Given the description of an element on the screen output the (x, y) to click on. 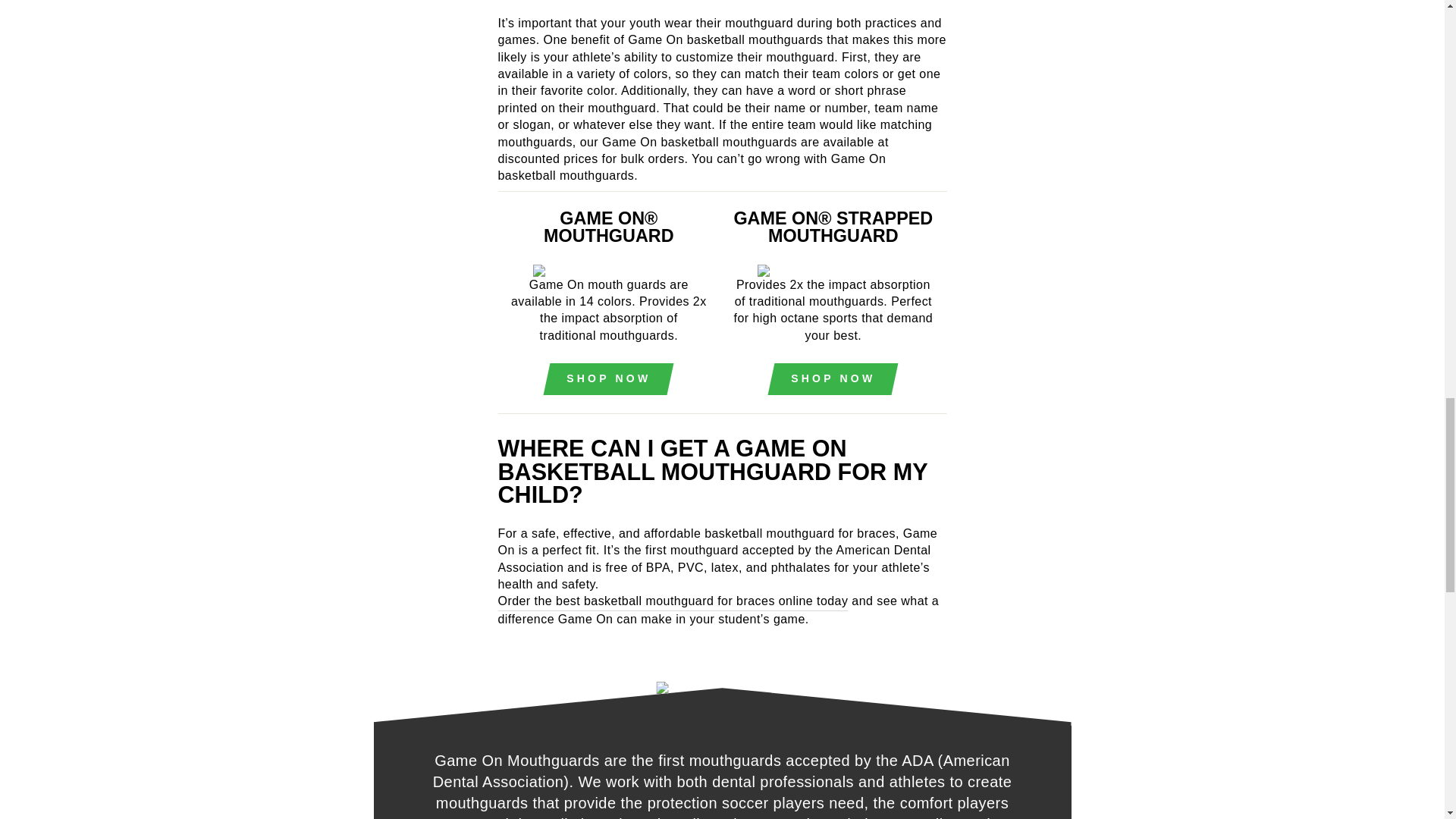
SHOP NOW (832, 528)
SHOP NOW (608, 528)
Order the best basketball mouthguard for braces online today (672, 751)
